Given the description of an element on the screen output the (x, y) to click on. 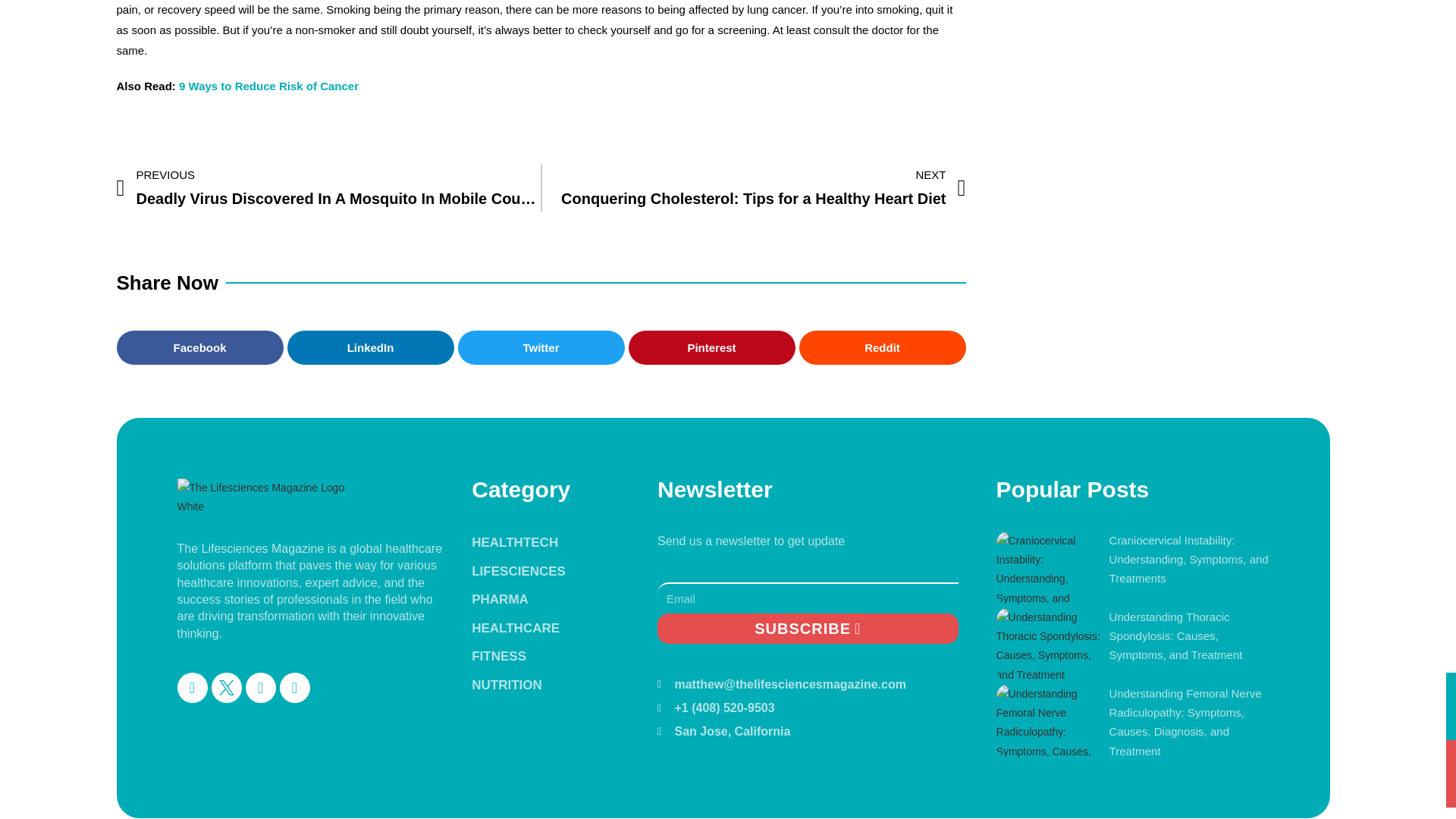
9 Ways to Reduce Risk of Cancer (753, 188)
